Given the description of an element on the screen output the (x, y) to click on. 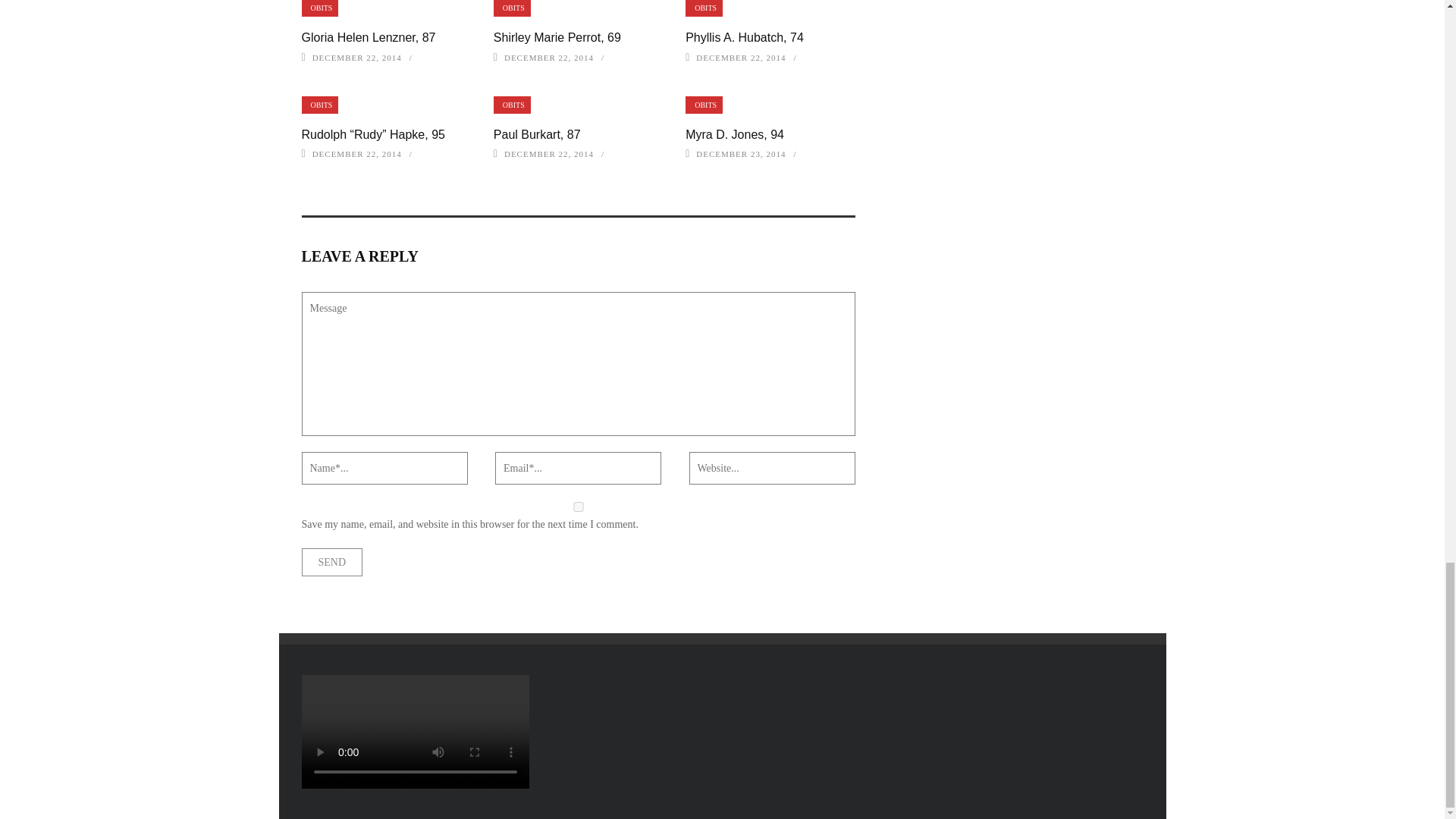
yes (578, 506)
Send (331, 561)
